Given the description of an element on the screen output the (x, y) to click on. 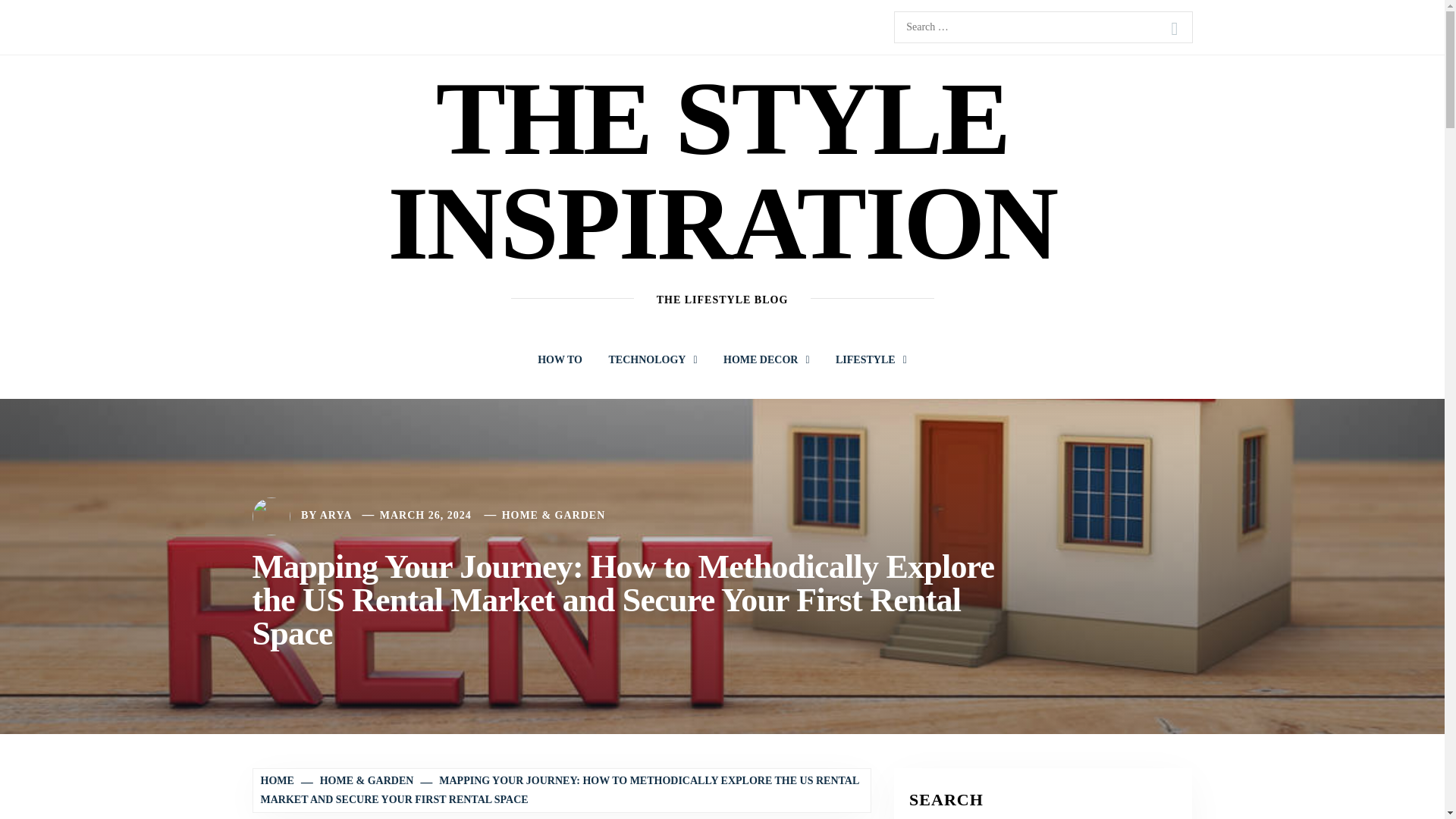
HOW TO (559, 359)
HOME (279, 780)
Search (1174, 28)
LIFESTYLE (871, 359)
MARCH 26, 2024 (425, 514)
TECHNOLOGY (651, 359)
HOME DECOR (766, 359)
ARYA (336, 514)
Search (1174, 28)
Search (1174, 28)
